Given the description of an element on the screen output the (x, y) to click on. 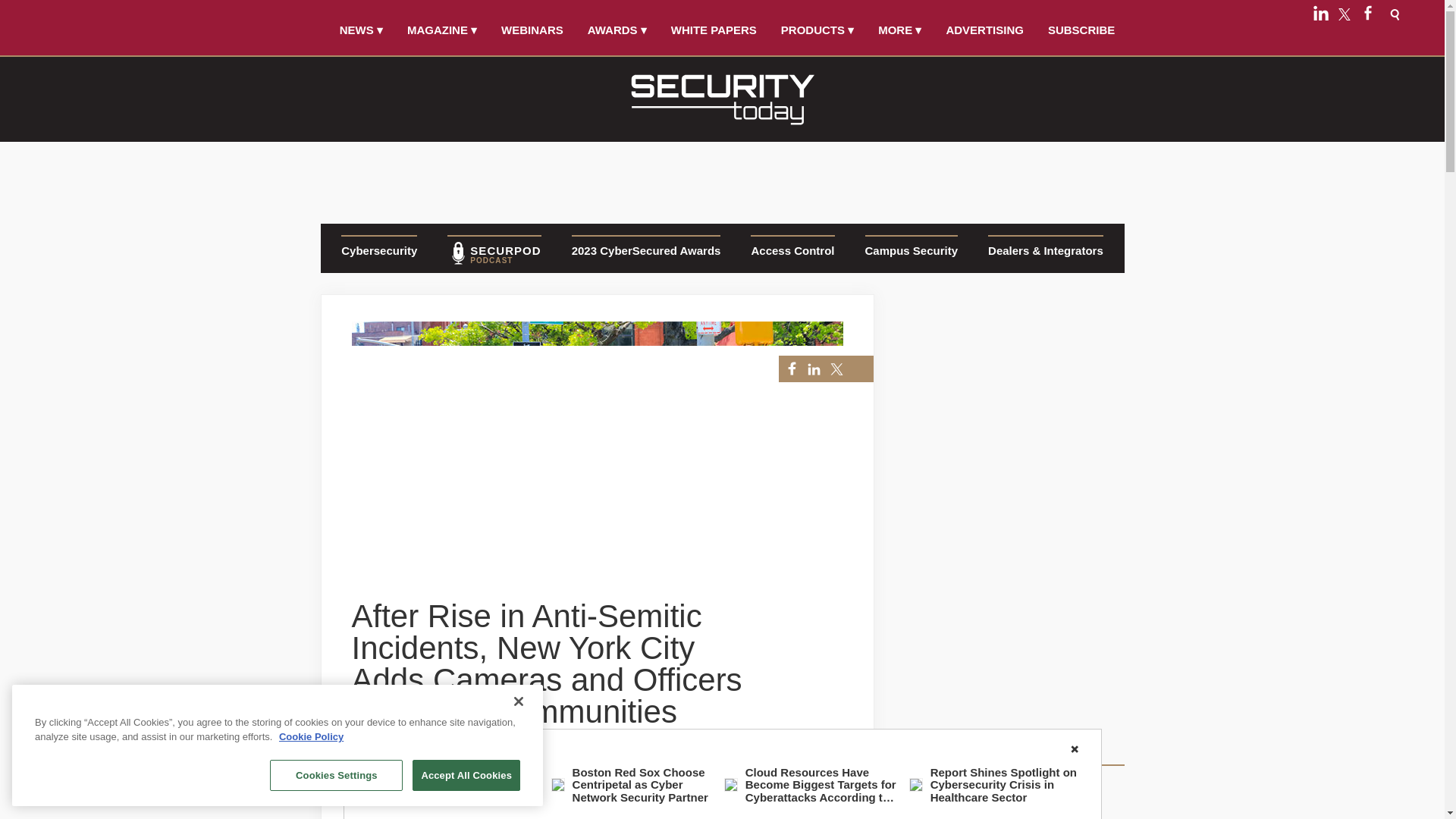
3rd party ad content (721, 178)
WHITE PAPERS (714, 29)
WEBINARS (531, 29)
